Given the description of an element on the screen output the (x, y) to click on. 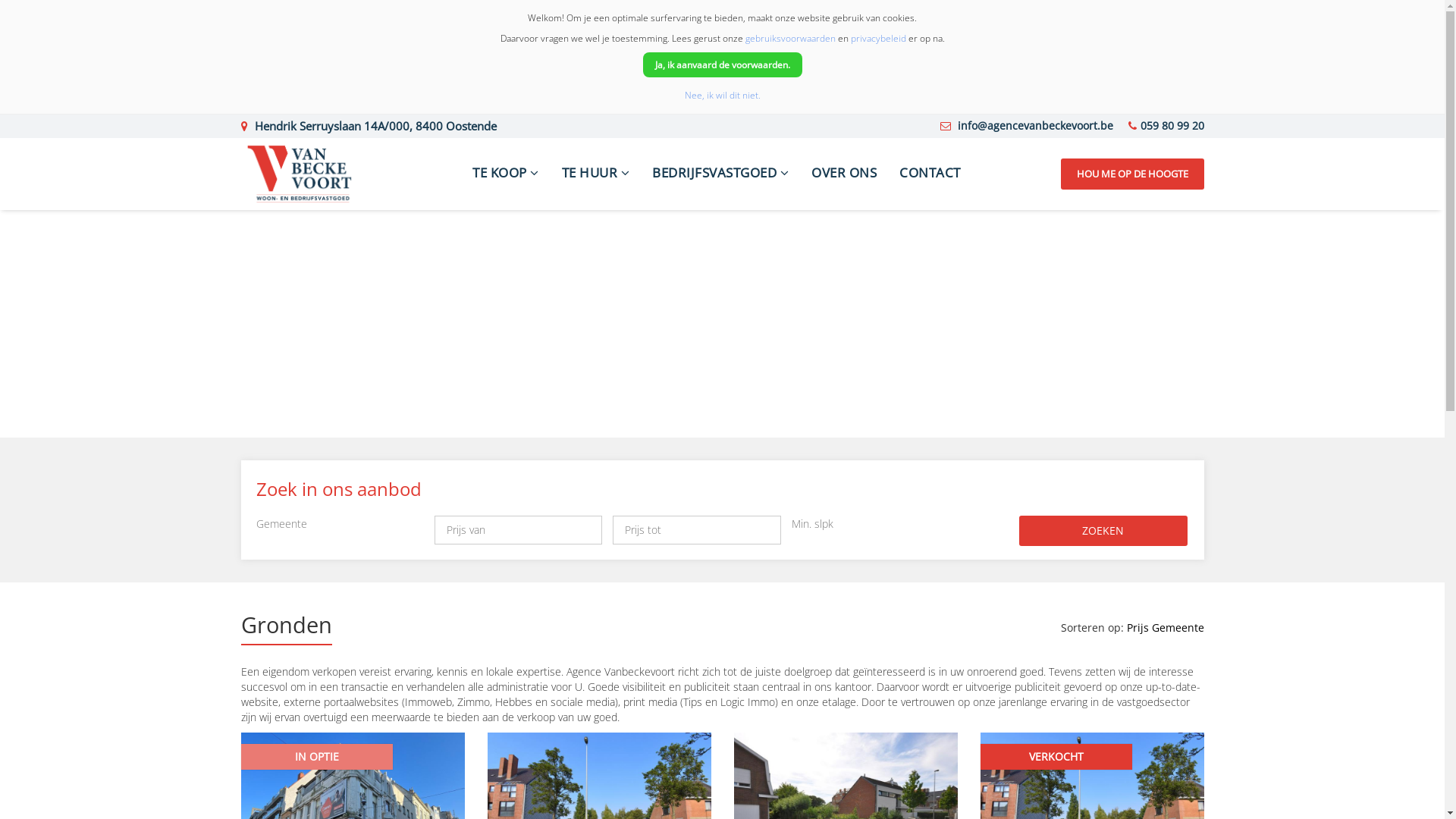
059 80 99 20 Element type: text (1172, 125)
BEDRIJFSVASTGOED Element type: text (720, 173)
HOU ME OP DE HOOGTE Element type: text (1132, 173)
Nee, ik wil dit niet. Element type: text (721, 94)
OVER ONS Element type: text (844, 173)
Ja, ik aanvaard de voorwaarden. Element type: text (722, 64)
Zoeken Element type: text (1102, 530)
Gemeente Element type: text (1177, 627)
TE KOOP Element type: text (505, 173)
TE HUUR Element type: text (595, 173)
CONTACT Element type: text (930, 173)
info@agencevanbeckevoort.be Element type: text (1034, 125)
Prijs Element type: text (1138, 627)
gebruiksvoorwaarden Element type: text (789, 37)
privacybeleid Element type: text (878, 37)
